Given the description of an element on the screen output the (x, y) to click on. 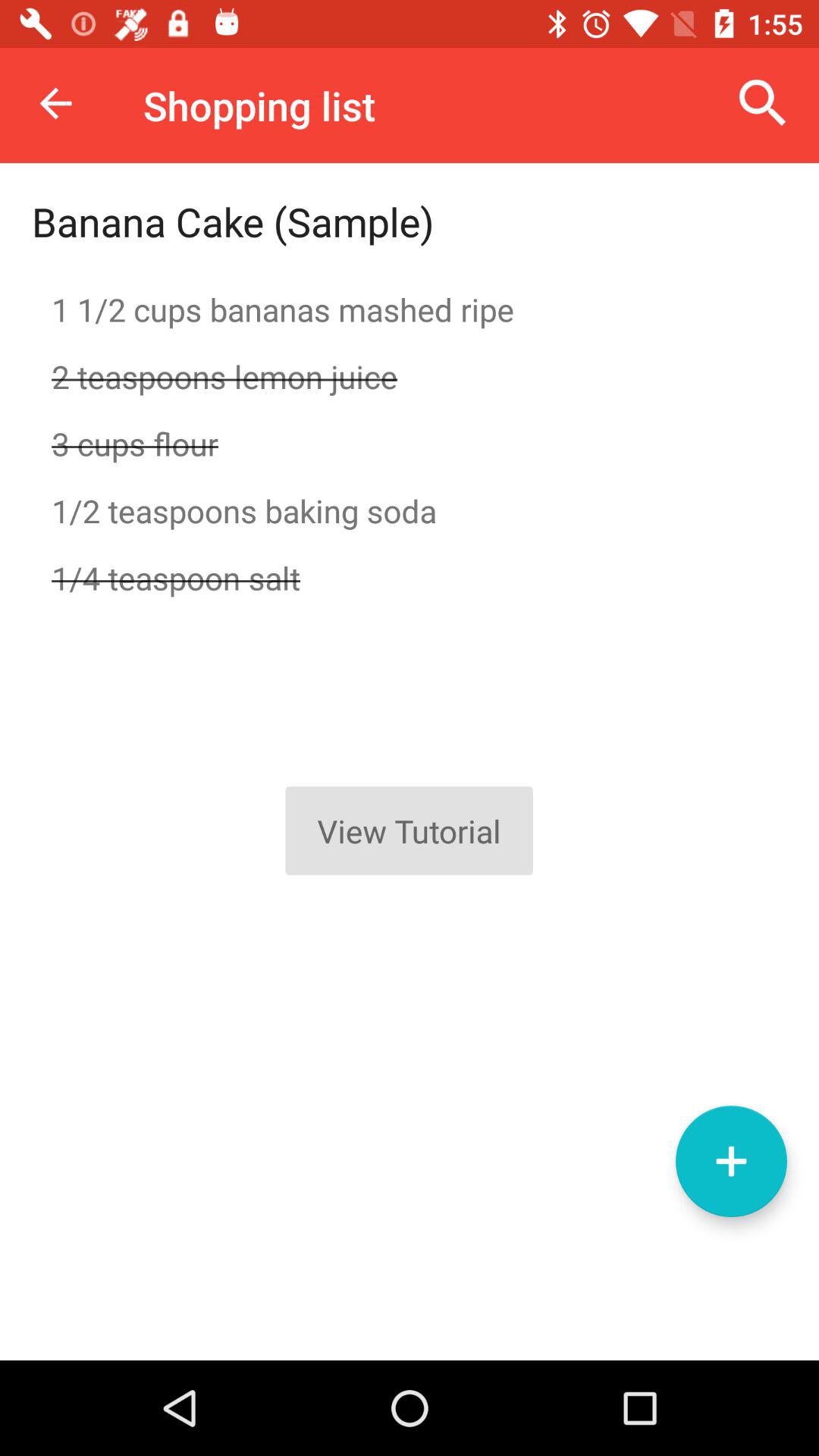
launch the icon below 1 4 teaspoon (731, 1161)
